Given the description of an element on the screen output the (x, y) to click on. 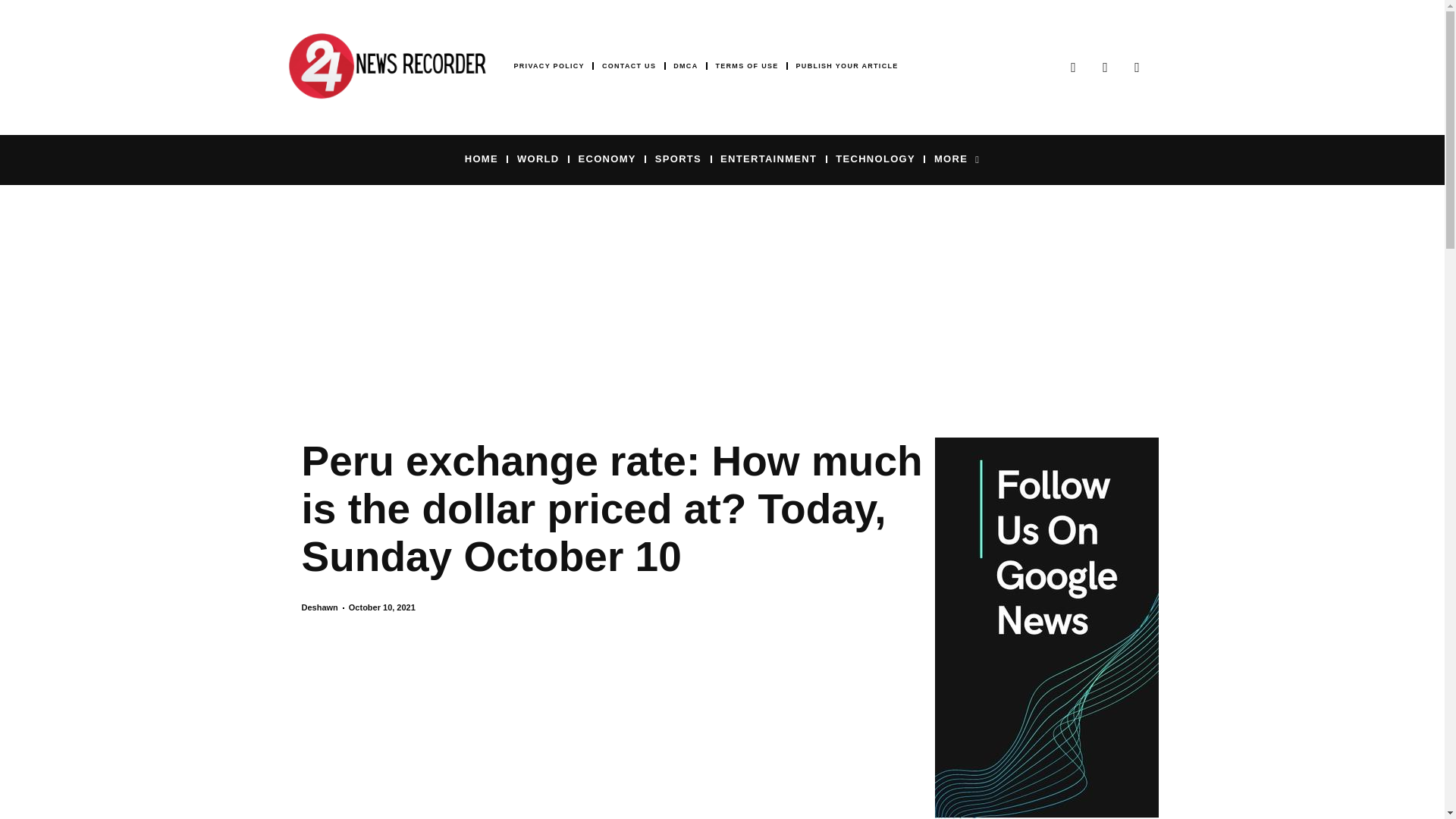
DMCA (684, 66)
ECONOMY (607, 158)
SPORTS (678, 158)
TERMS OF USE (745, 66)
WORLD (537, 158)
CONTACT US (628, 66)
TECHNOLOGY (875, 158)
MORE (956, 158)
ENTERTAINMENT (768, 158)
